Given the description of an element on the screen output the (x, y) to click on. 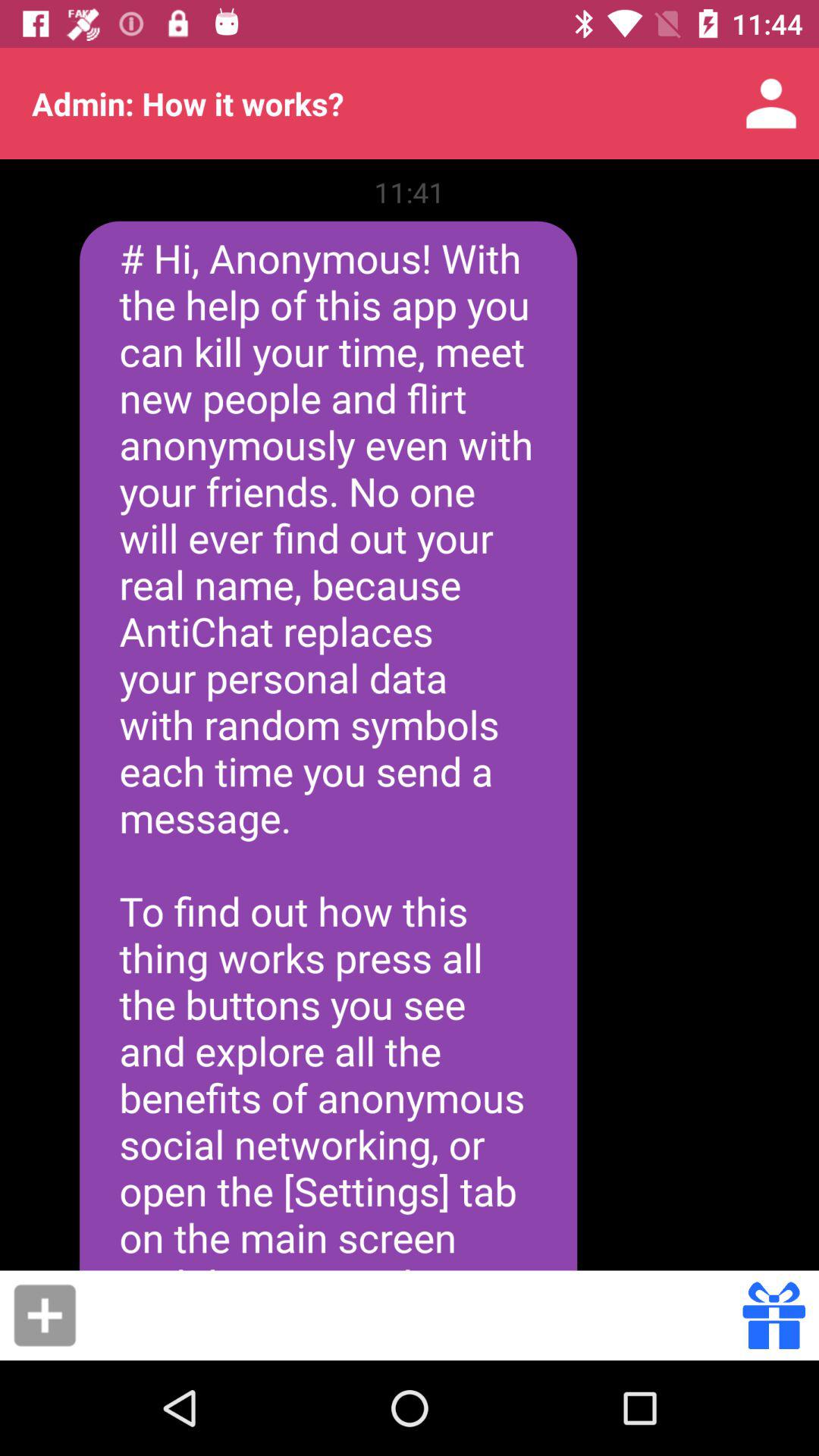
select the item next to admin how it app (771, 103)
